Given the description of an element on the screen output the (x, y) to click on. 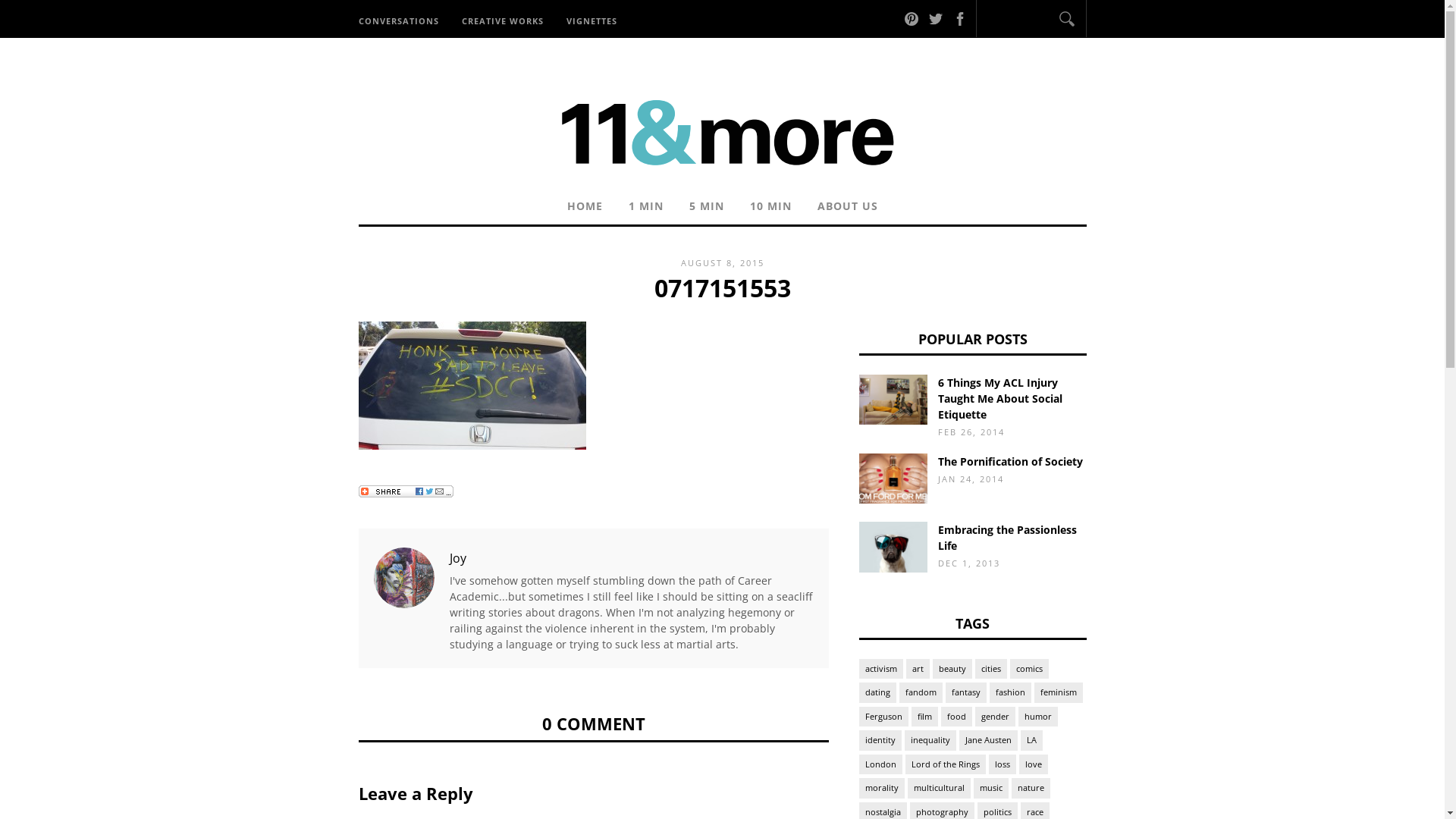
humor Element type: text (1037, 716)
5 MIN Element type: text (706, 207)
film Element type: text (924, 716)
CONVERSATIONS Element type: text (403, 19)
LA Element type: text (1031, 740)
cities Element type: text (991, 668)
1 MIN Element type: text (645, 207)
ABOUT US Element type: text (846, 207)
CREATIVE WORKS Element type: text (502, 19)
multicultural Element type: text (937, 788)
loss Element type: text (1002, 764)
morality Element type: text (880, 788)
10 MIN Element type: text (770, 207)
beauty Element type: text (952, 668)
fandom Element type: text (920, 692)
love Element type: text (1033, 764)
fantasy Element type: text (964, 692)
Lord of the Rings Element type: text (945, 764)
inequality Element type: text (929, 740)
Joy Element type: text (456, 557)
feminism Element type: text (1058, 692)
comics Element type: text (1029, 668)
HOME Element type: text (584, 207)
identity Element type: text (879, 740)
Ferguson Element type: text (882, 716)
music Element type: text (990, 788)
art Element type: text (916, 668)
fashion Element type: text (1009, 692)
London Element type: text (879, 764)
dating Element type: text (876, 692)
gender Element type: text (995, 716)
Search... Element type: hover (1021, 20)
nature Element type: text (1030, 788)
Jane Austen Element type: text (987, 740)
The Pornification of Society Element type: text (1009, 461)
Embracing the Passionless Life Element type: text (1006, 537)
food Element type: text (955, 716)
VIGNETTES Element type: text (591, 19)
6 Things My ACL Injury Taught Me About Social Etiquette Element type: text (999, 397)
Pinterest Element type: hover (911, 18)
activism Element type: text (880, 668)
